Given the description of an element on the screen output the (x, y) to click on. 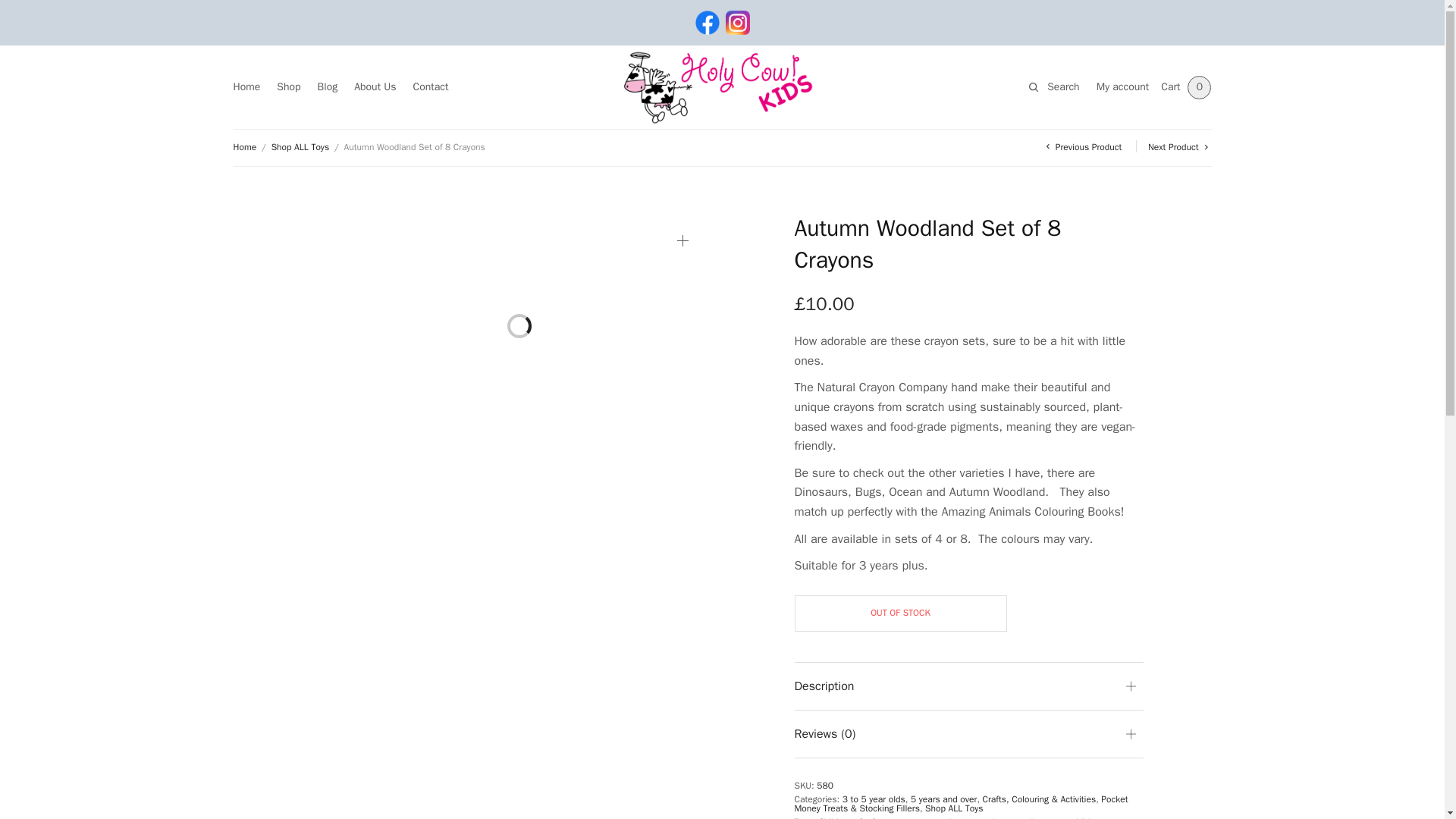
Search (14, 14)
Find us on Instagram (737, 22)
My account (1123, 87)
crayons (903, 817)
About Us (374, 87)
3 to 5 year olds (874, 799)
Blog (327, 87)
Holy Cow Kids (722, 87)
natural crayons (953, 817)
the natural crayons (1028, 817)
Contact (430, 87)
Previous Product (1081, 146)
Find us on Facebook (706, 22)
Zoom (681, 240)
